Given the description of an element on the screen output the (x, y) to click on. 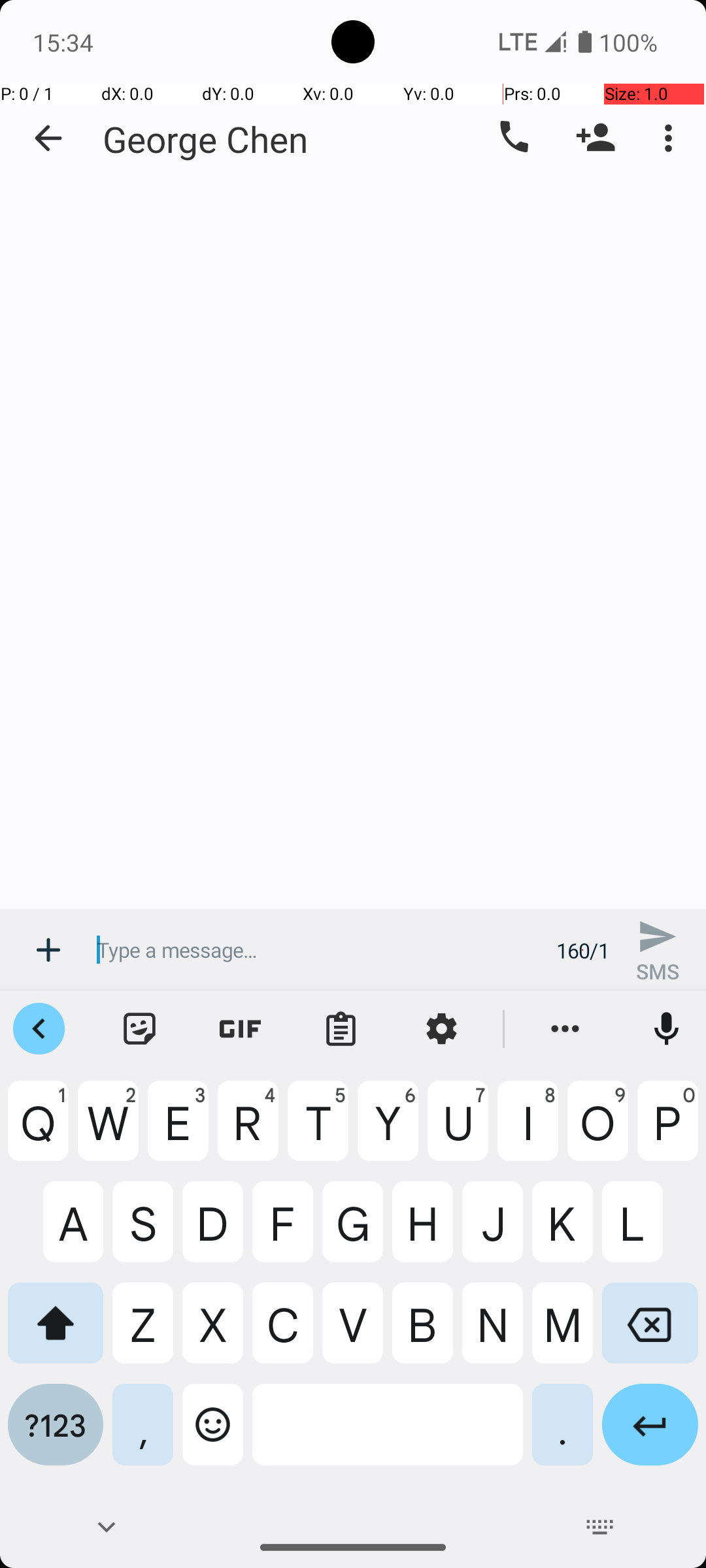
George Chen Element type: android.widget.TextView (205, 138)
